Given the description of an element on the screen output the (x, y) to click on. 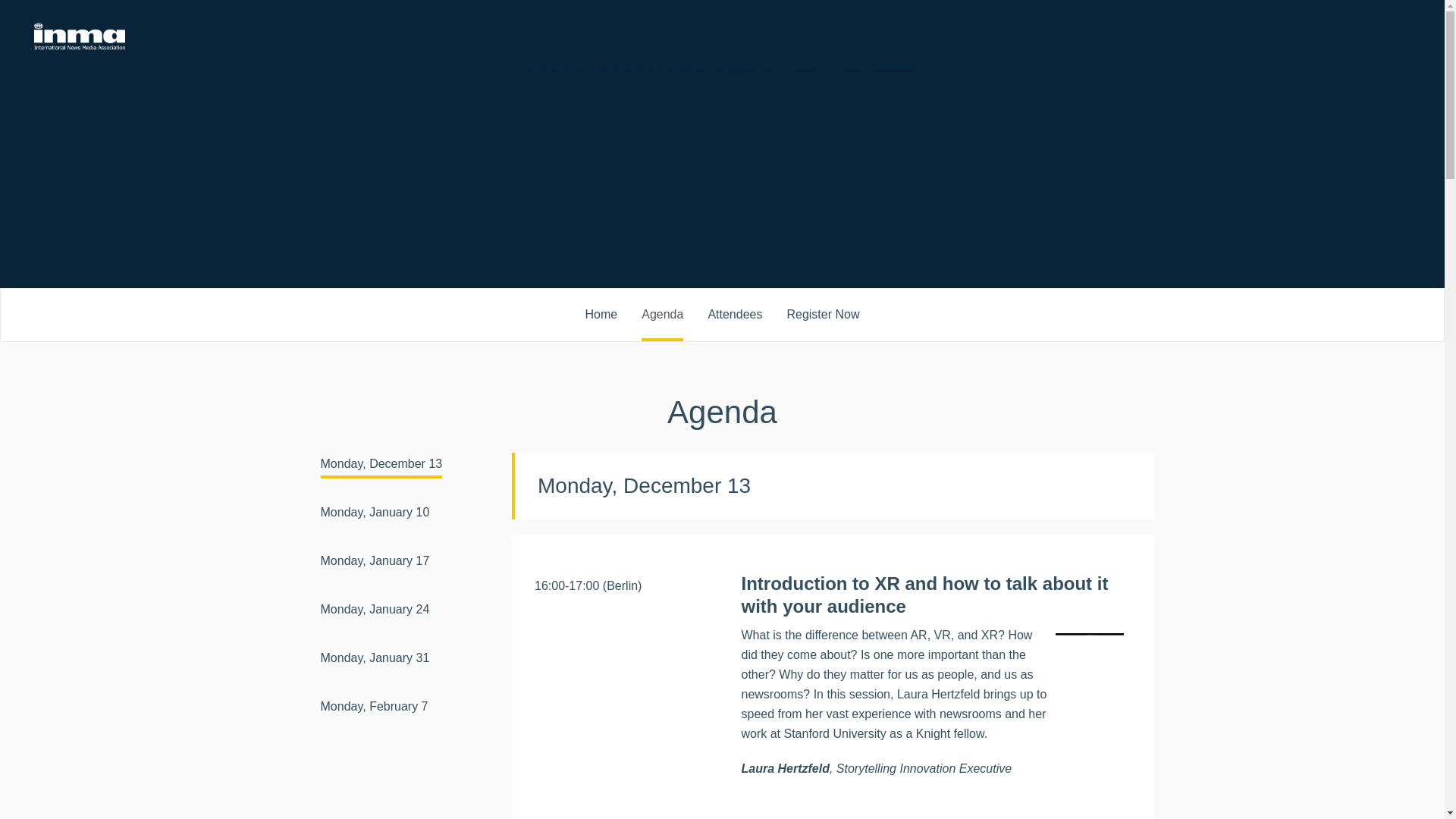
Attendees (734, 313)
Monday, January 10 (374, 514)
Monday, January 24 (374, 611)
Monday, January 31 (374, 659)
Monday, December 13 (381, 465)
Monday, February 7 (374, 708)
Register Now (822, 313)
Monday, January 17 (374, 562)
